Given the description of an element on the screen output the (x, y) to click on. 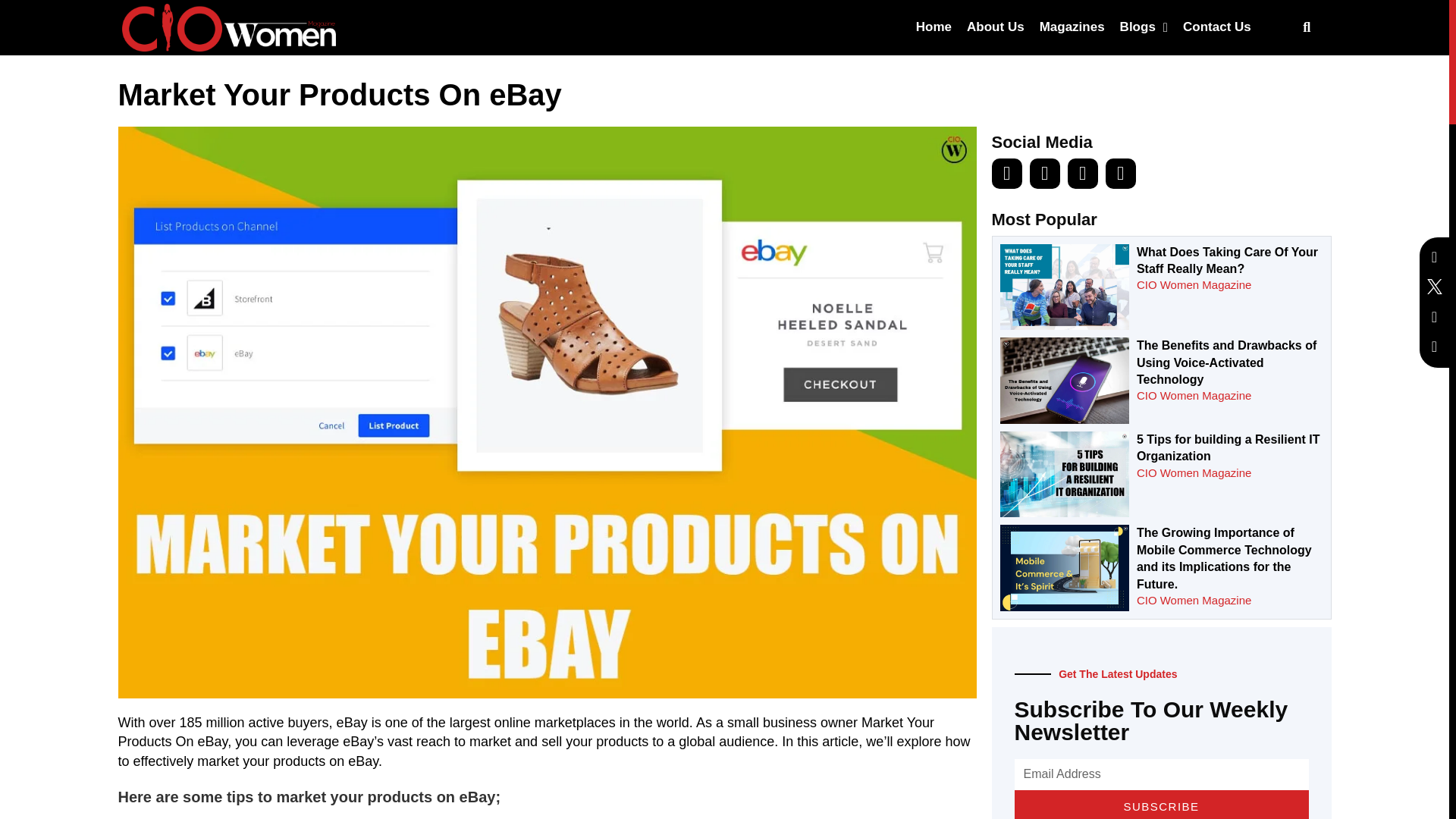
Blogs (1143, 27)
Magazines (1072, 27)
About Us (995, 27)
Home (933, 27)
Contact Us (1216, 27)
